Given the description of an element on the screen output the (x, y) to click on. 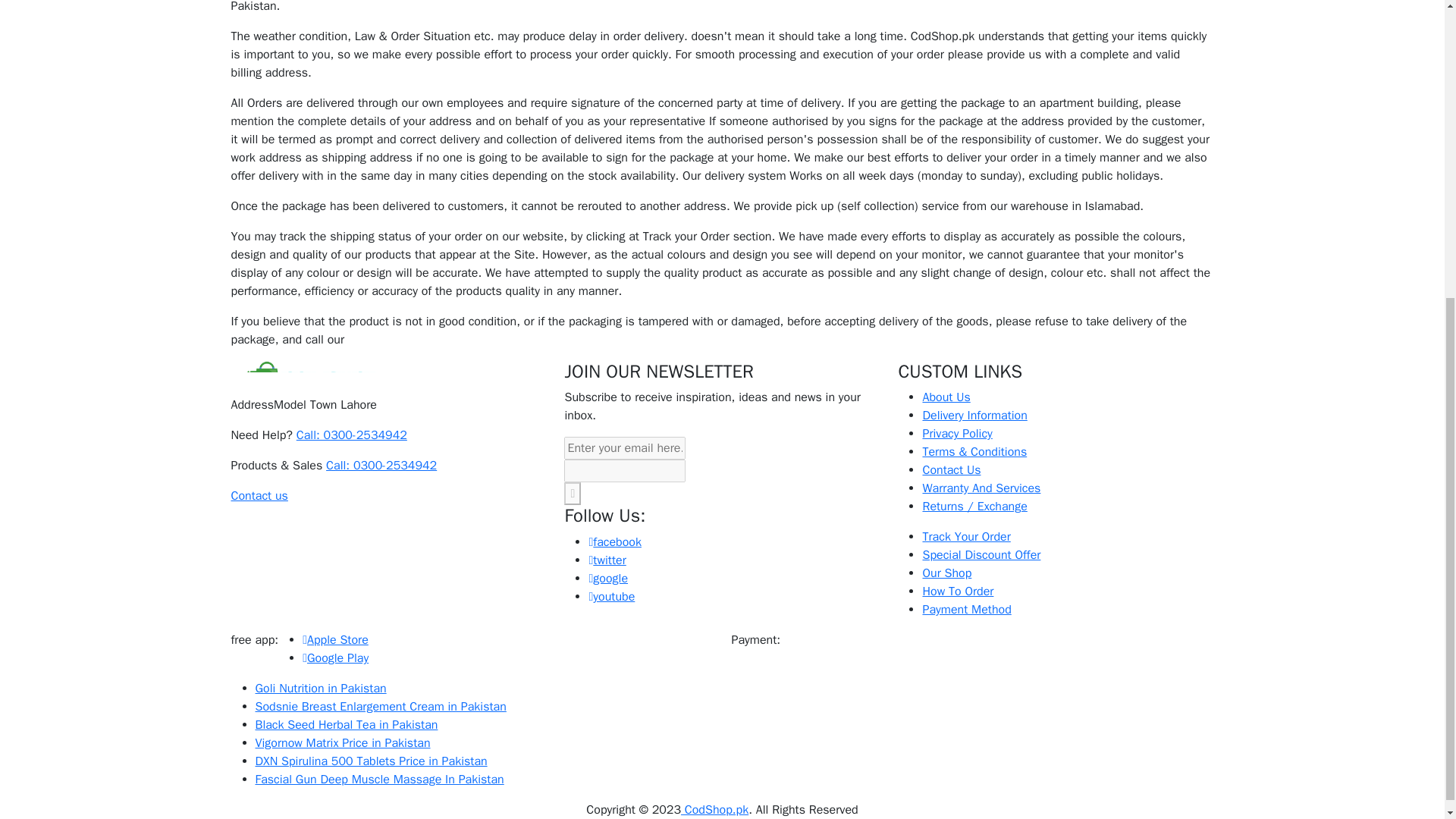
Facebook (614, 541)
Google (607, 578)
Youtube (611, 596)
Twitter (607, 560)
